Given the description of an element on the screen output the (x, y) to click on. 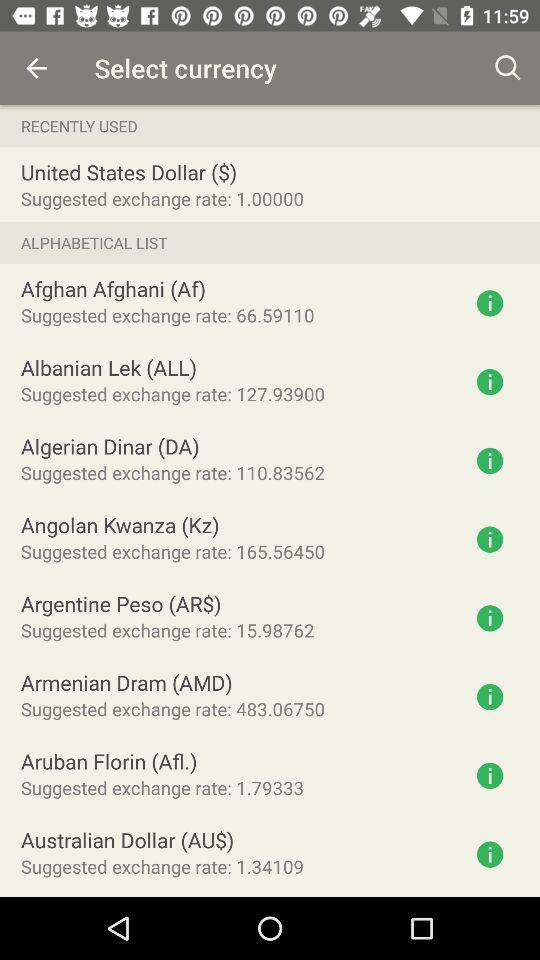
more info (490, 460)
